Given the description of an element on the screen output the (x, y) to click on. 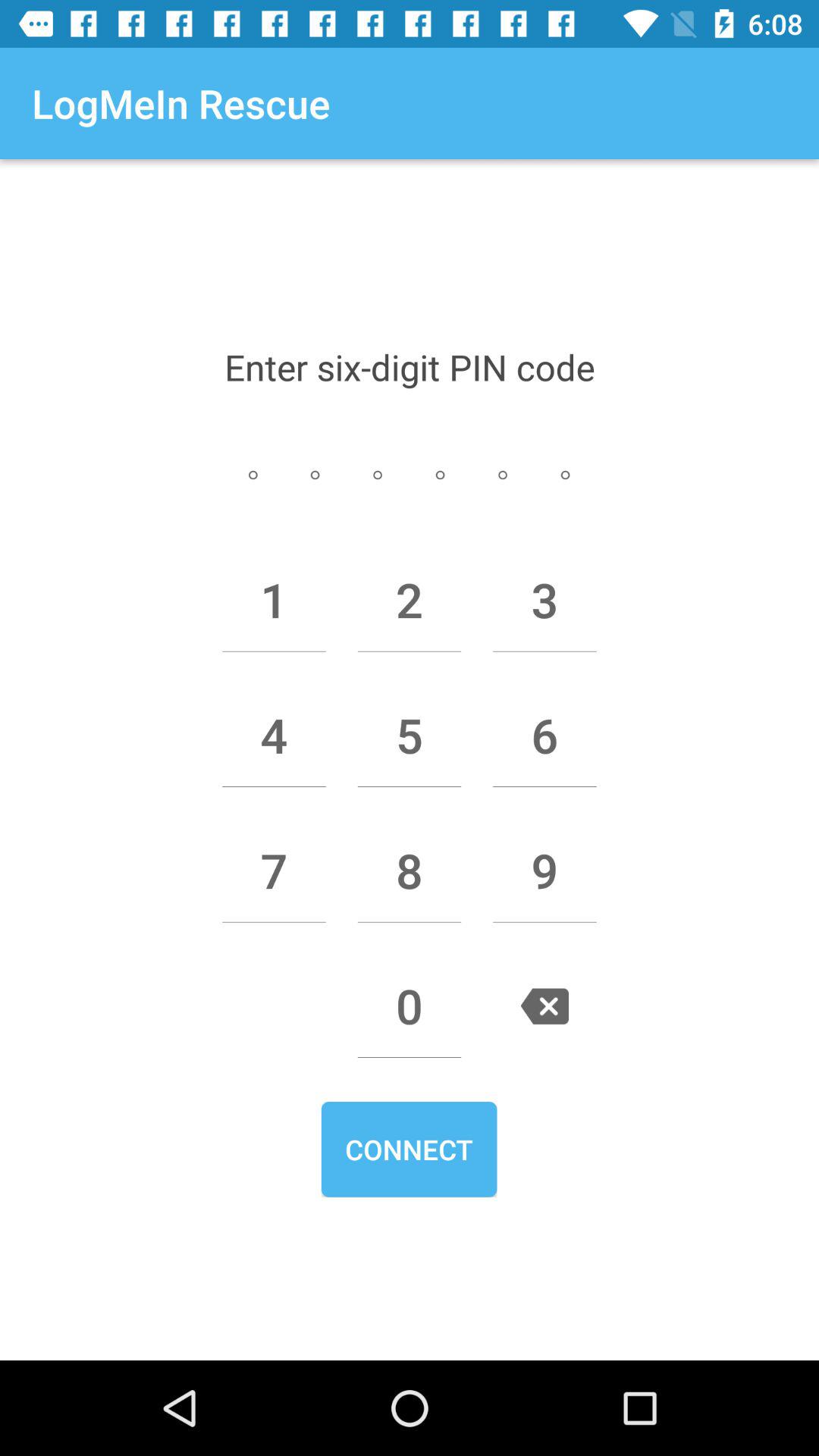
choose the icon to the left of the 5 icon (273, 735)
